Given the description of an element on the screen output the (x, y) to click on. 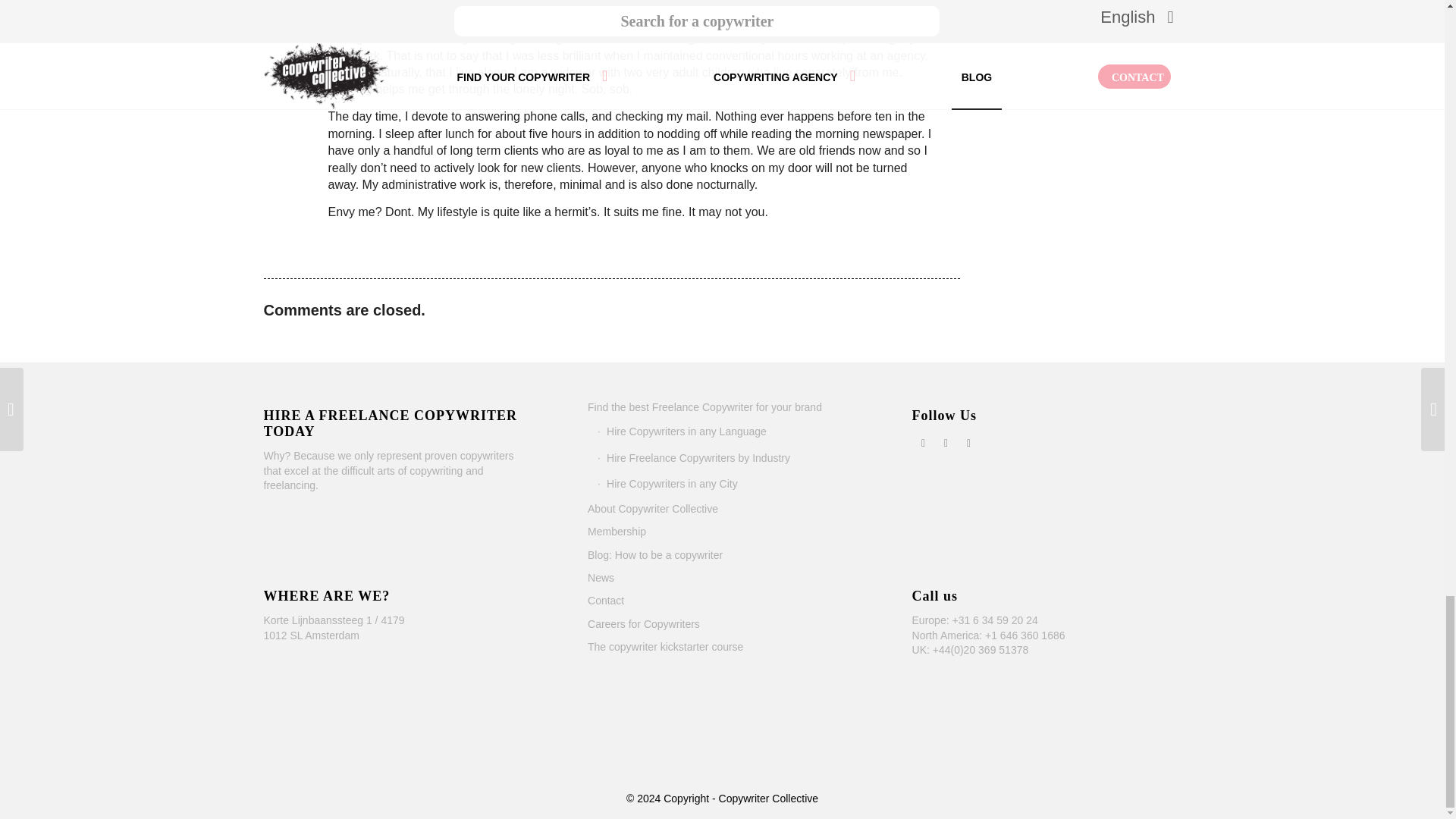
May 11, 2015 at 2:37 pm (373, 1)
Linkedin (968, 442)
Facebook (923, 442)
Twitter (946, 442)
